Given the description of an element on the screen output the (x, y) to click on. 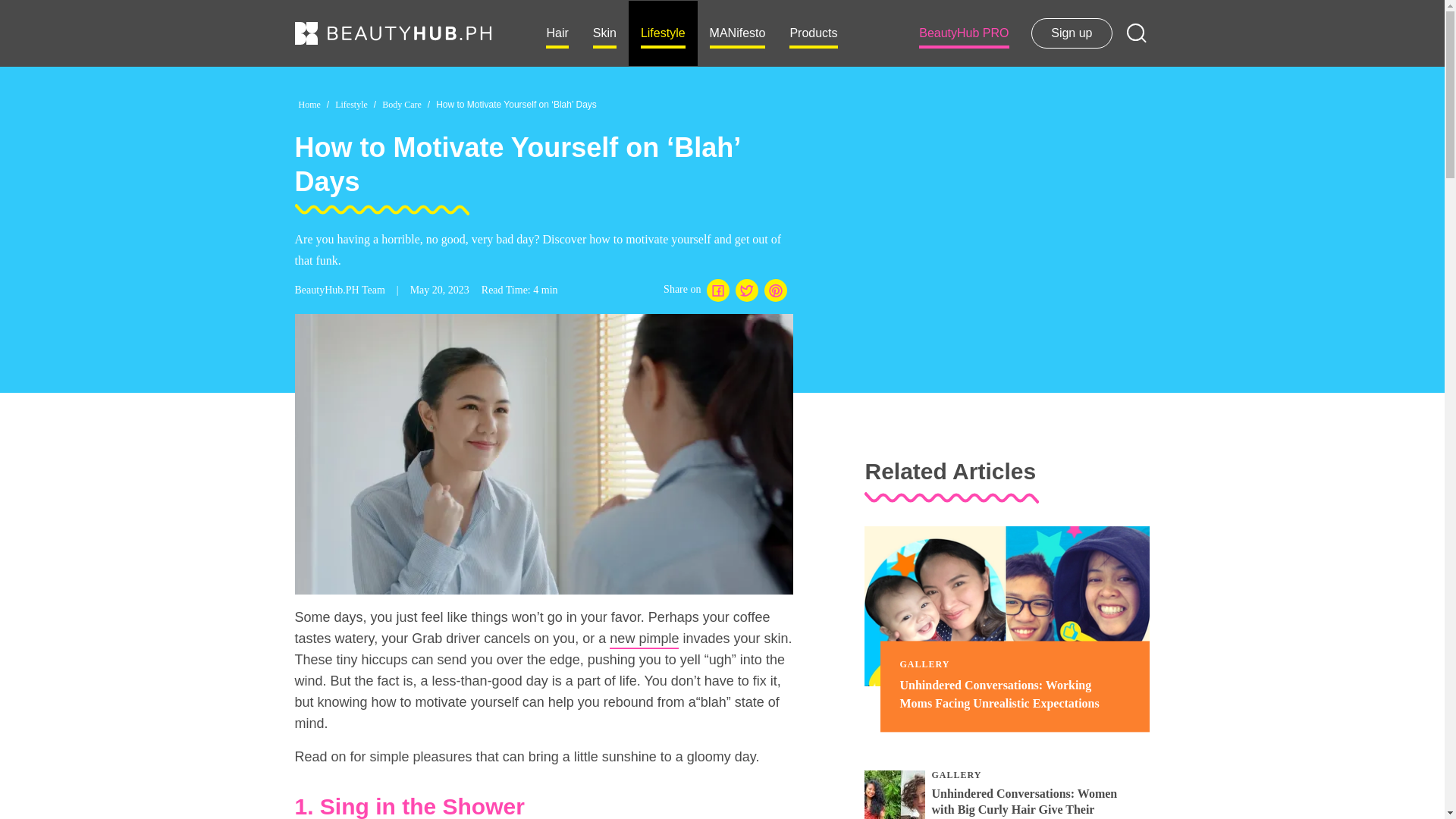
Lifestyle (662, 33)
MANifesto (737, 33)
Sign up (1071, 33)
Products (812, 33)
